Given the description of an element on the screen output the (x, y) to click on. 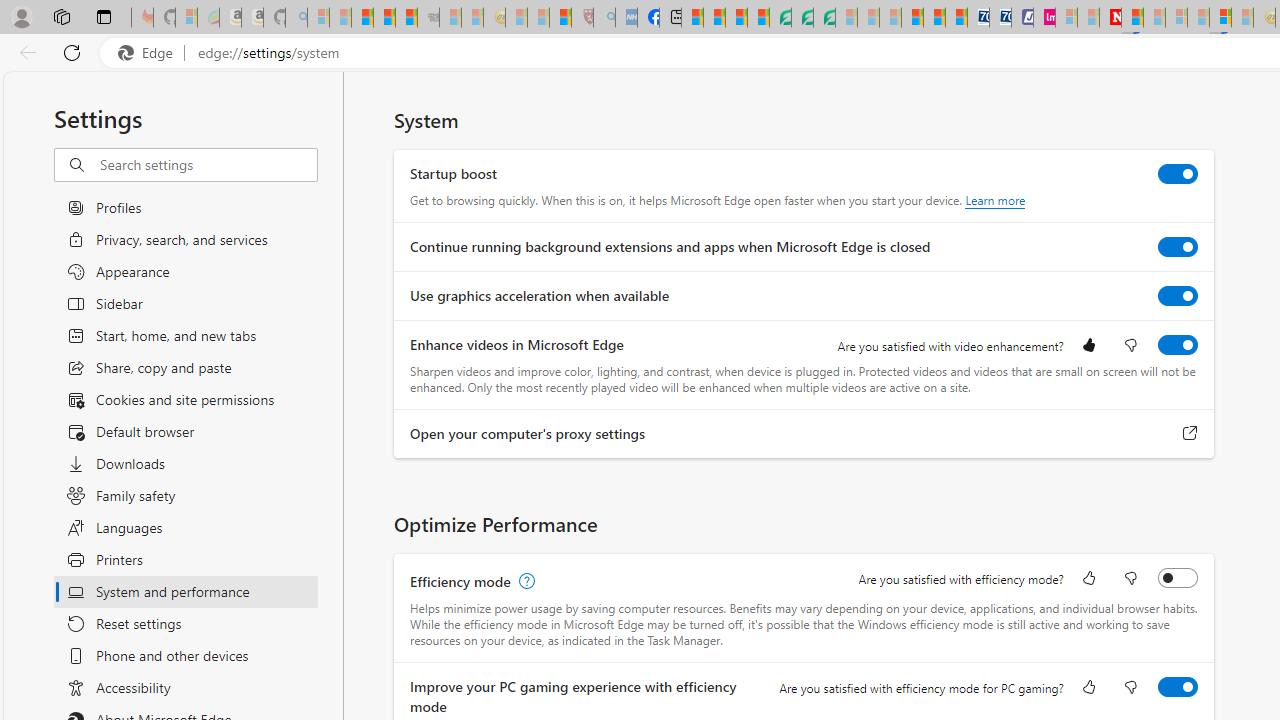
Learn more (995, 200)
14 Common Myths Debunked By Scientific Facts - Sleeping (1154, 17)
Personal Profile (21, 16)
